Given the description of an element on the screen output the (x, y) to click on. 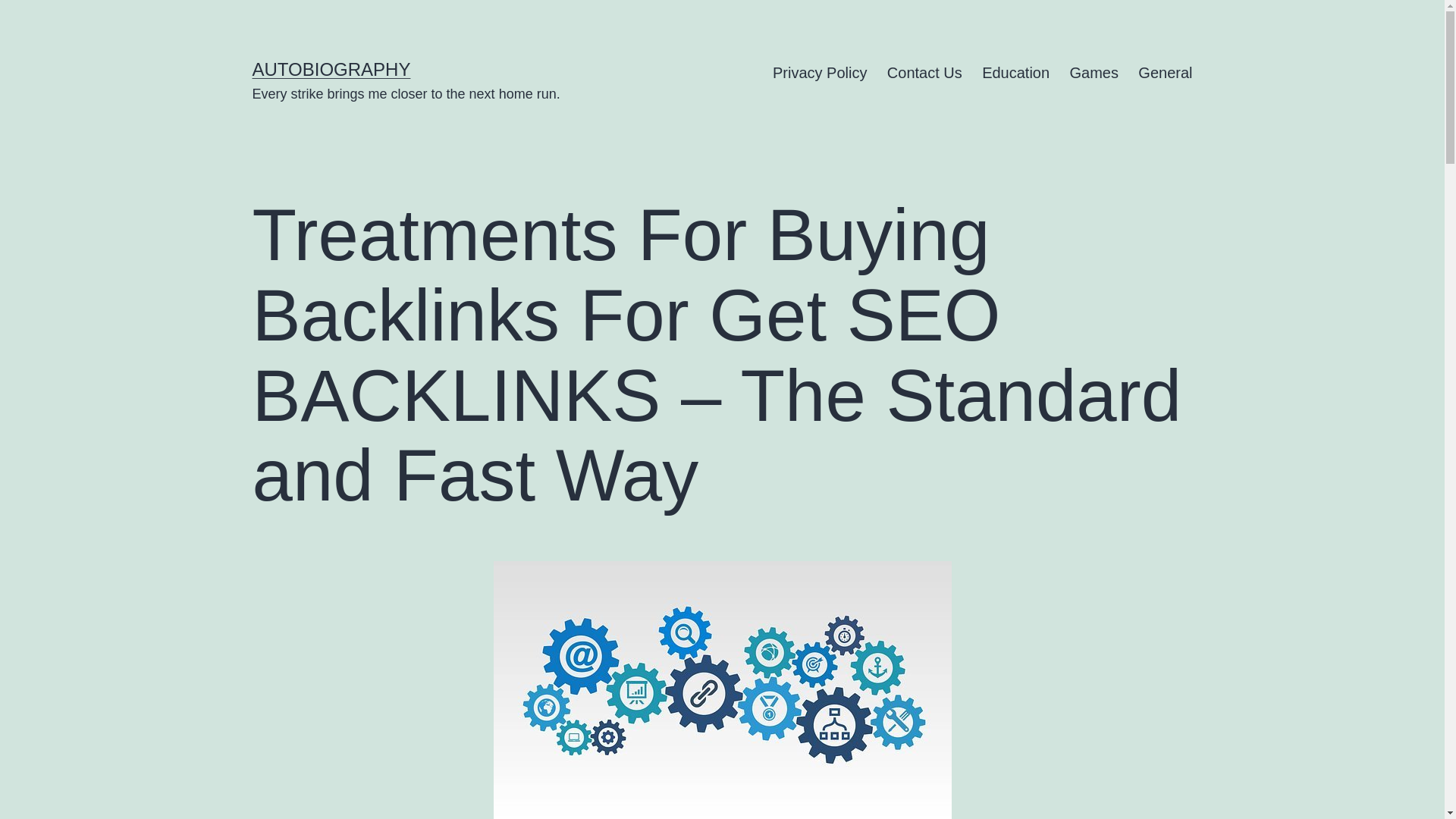
Games (1093, 72)
General (1165, 72)
Privacy Policy (819, 72)
AUTOBIOGRAPHY (330, 68)
Contact Us (924, 72)
Education (1015, 72)
